Given the description of an element on the screen output the (x, y) to click on. 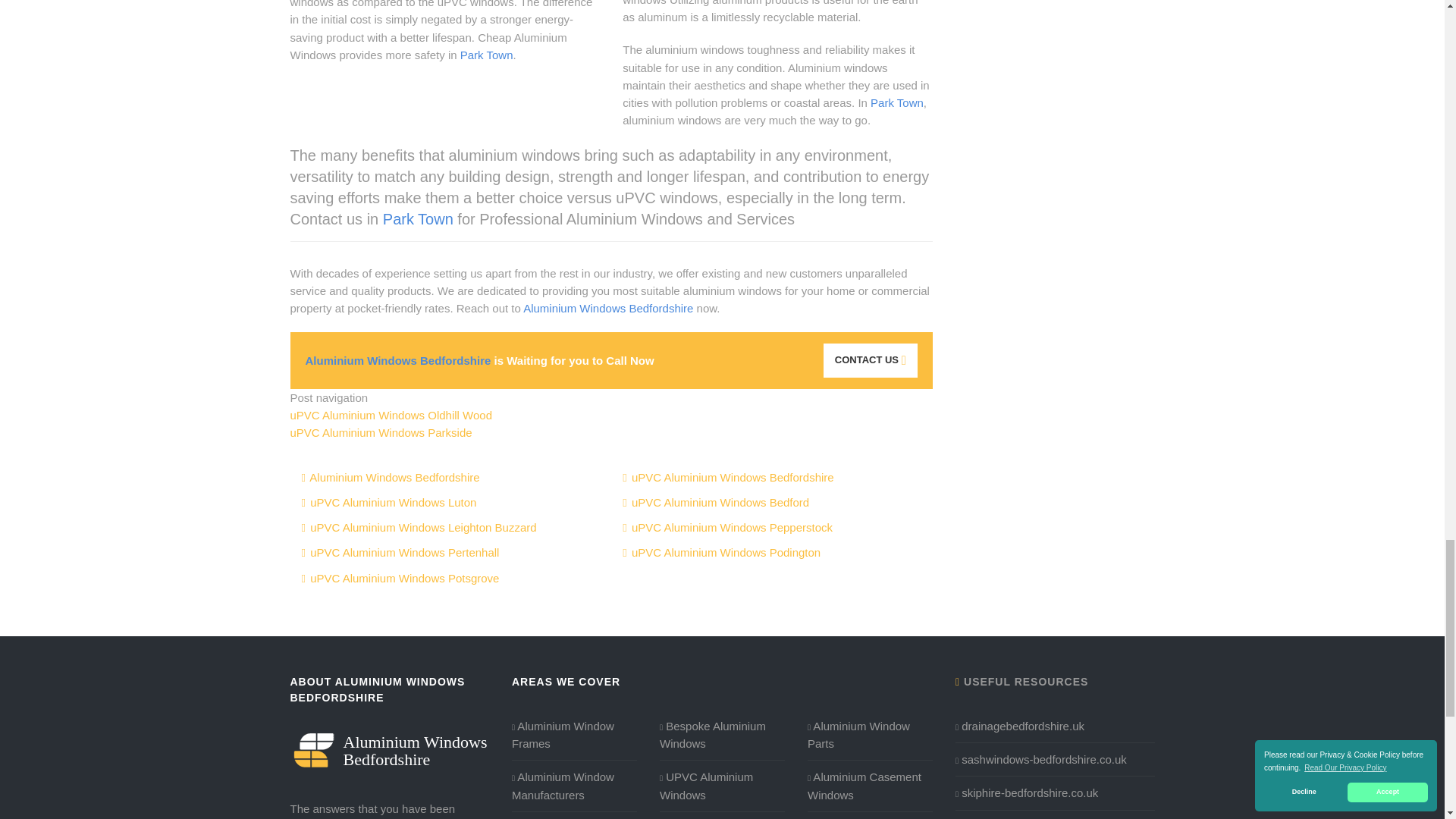
Aluminium Windows Bedfordshire (389, 750)
